Given the description of an element on the screen output the (x, y) to click on. 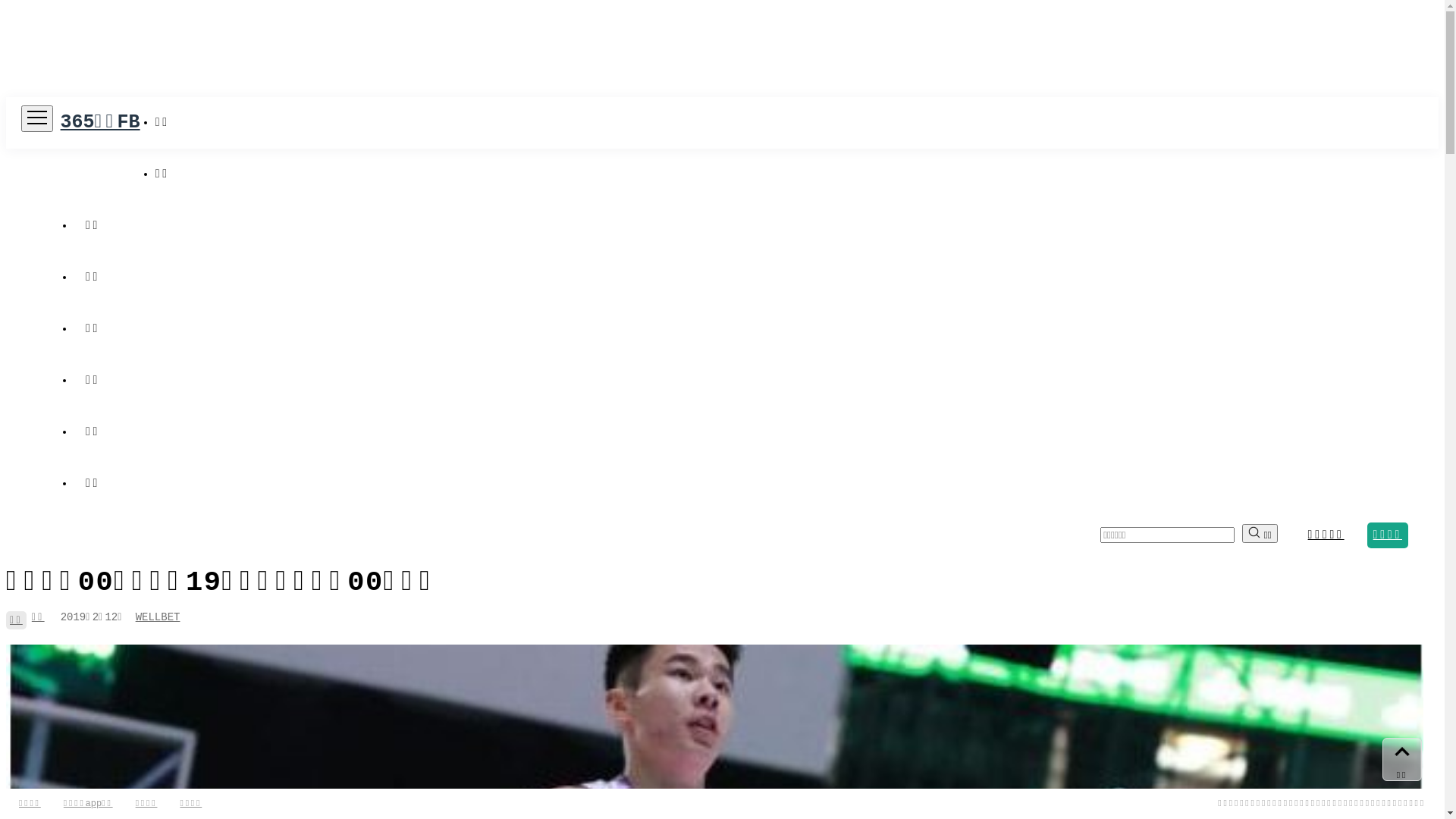
WELLBET Element type: text (157, 617)
